Given the description of an element on the screen output the (x, y) to click on. 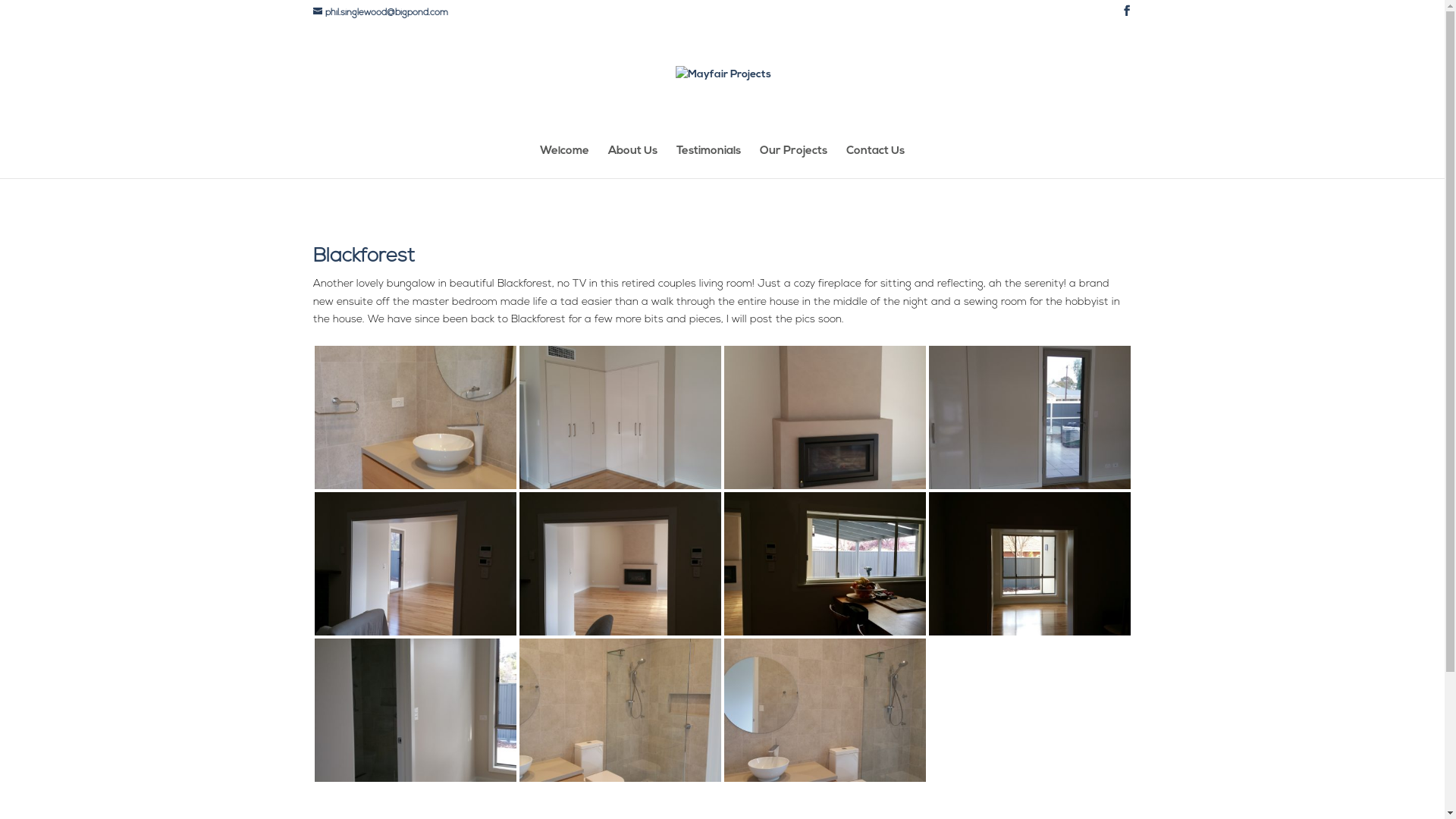
About Us Element type: text (632, 162)
Welcome Element type: text (564, 162)
Mayfair_Projects_Blackforest (11) Element type: hover (619, 781)
Mayfair_Projects_Blackforest (1) Element type: hover (414, 488)
Mayfair_Projects_Blackforest (9) Element type: hover (1028, 634)
Mayfair_Projects_Blackforest (10) Element type: hover (414, 781)
Contact Us Element type: text (875, 162)
Mayfair_Projects_Blackforest (2) Element type: hover (619, 488)
Mayfair_Projects_Blackforest (7) Element type: hover (619, 634)
phil.singlewood@bigpond.com Element type: text (379, 12)
Mayfair_Projects_Blackforest (12) Element type: hover (824, 781)
Mayfair_Projects_Blackforest (5) Element type: hover (414, 634)
Mayfair_Projects_Blackforest (4) Element type: hover (1028, 488)
Testimonials Element type: text (708, 162)
Our Projects Element type: text (793, 162)
Mayfair_Projects_Blackforest (8) Element type: hover (824, 634)
Mayfair_Projects_Blackforest (3) Element type: hover (824, 488)
